Given the description of an element on the screen output the (x, y) to click on. 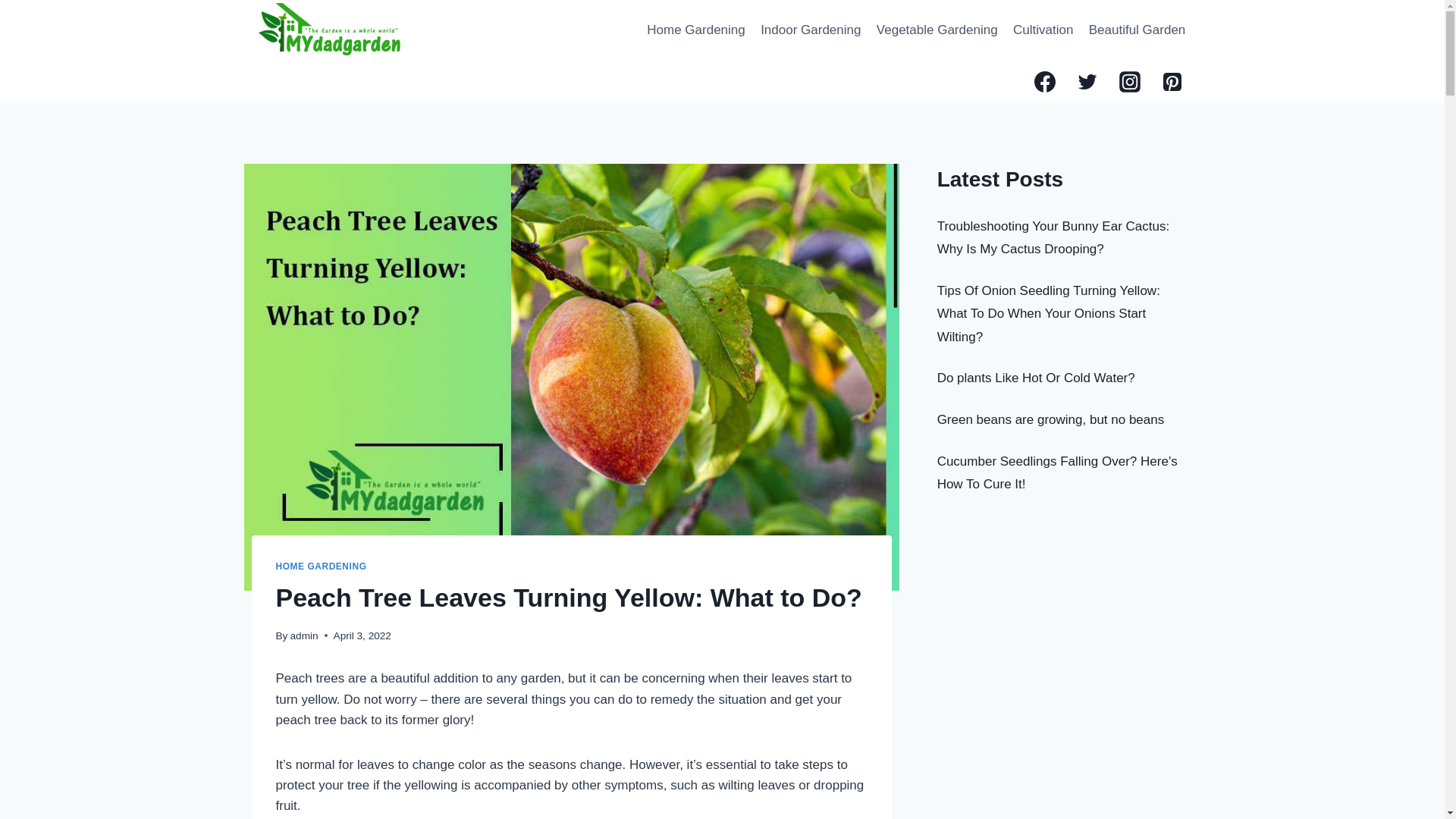
Beautiful Garden (1137, 30)
Cultivation (1043, 30)
Indoor Gardening (810, 30)
Vegetable Gardening (937, 30)
HOME GARDENING (321, 566)
admin (303, 635)
Home Gardening (695, 30)
